Given the description of an element on the screen output the (x, y) to click on. 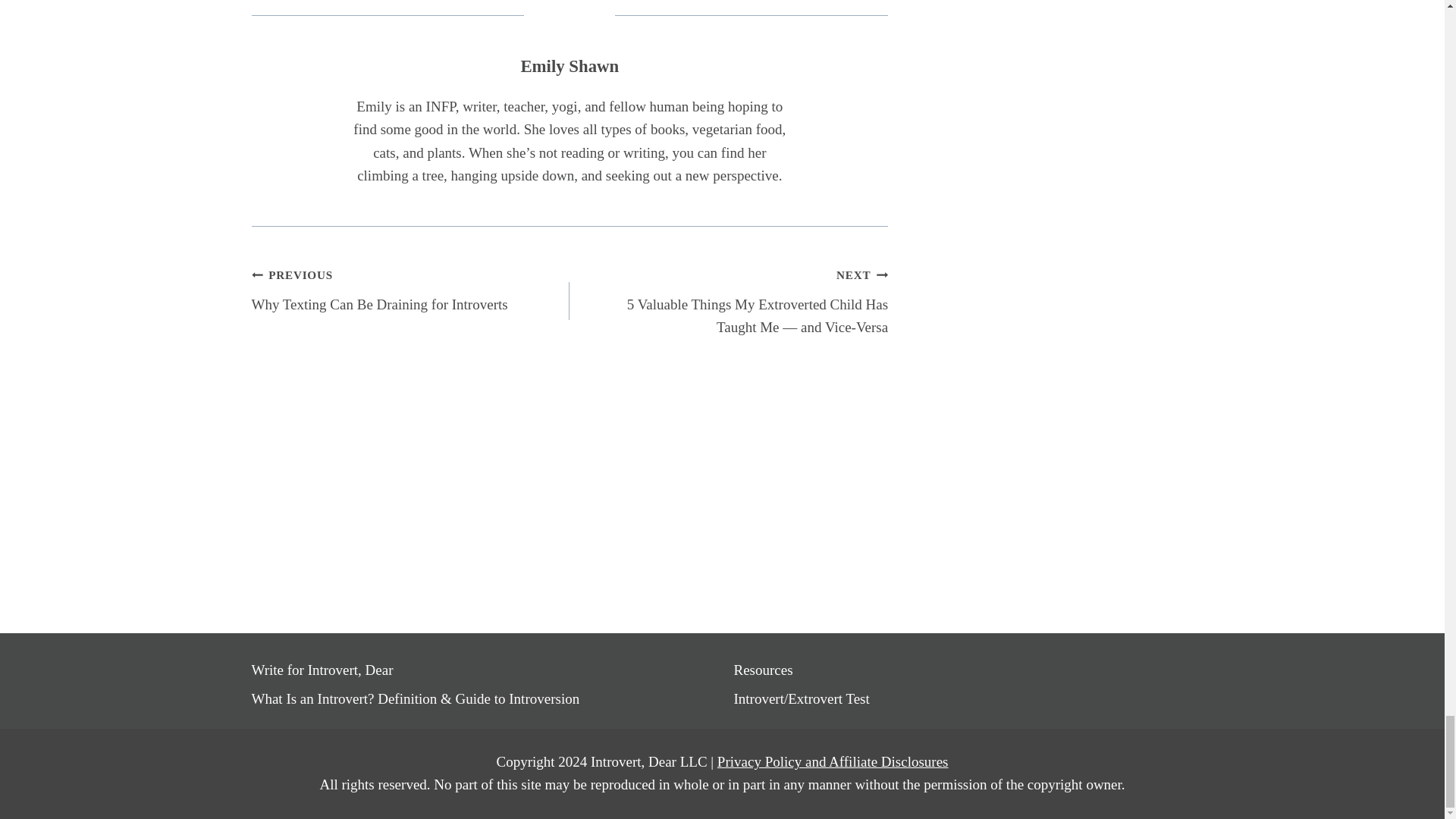
Posts by Emily Shawn (568, 66)
